Given the description of an element on the screen output the (x, y) to click on. 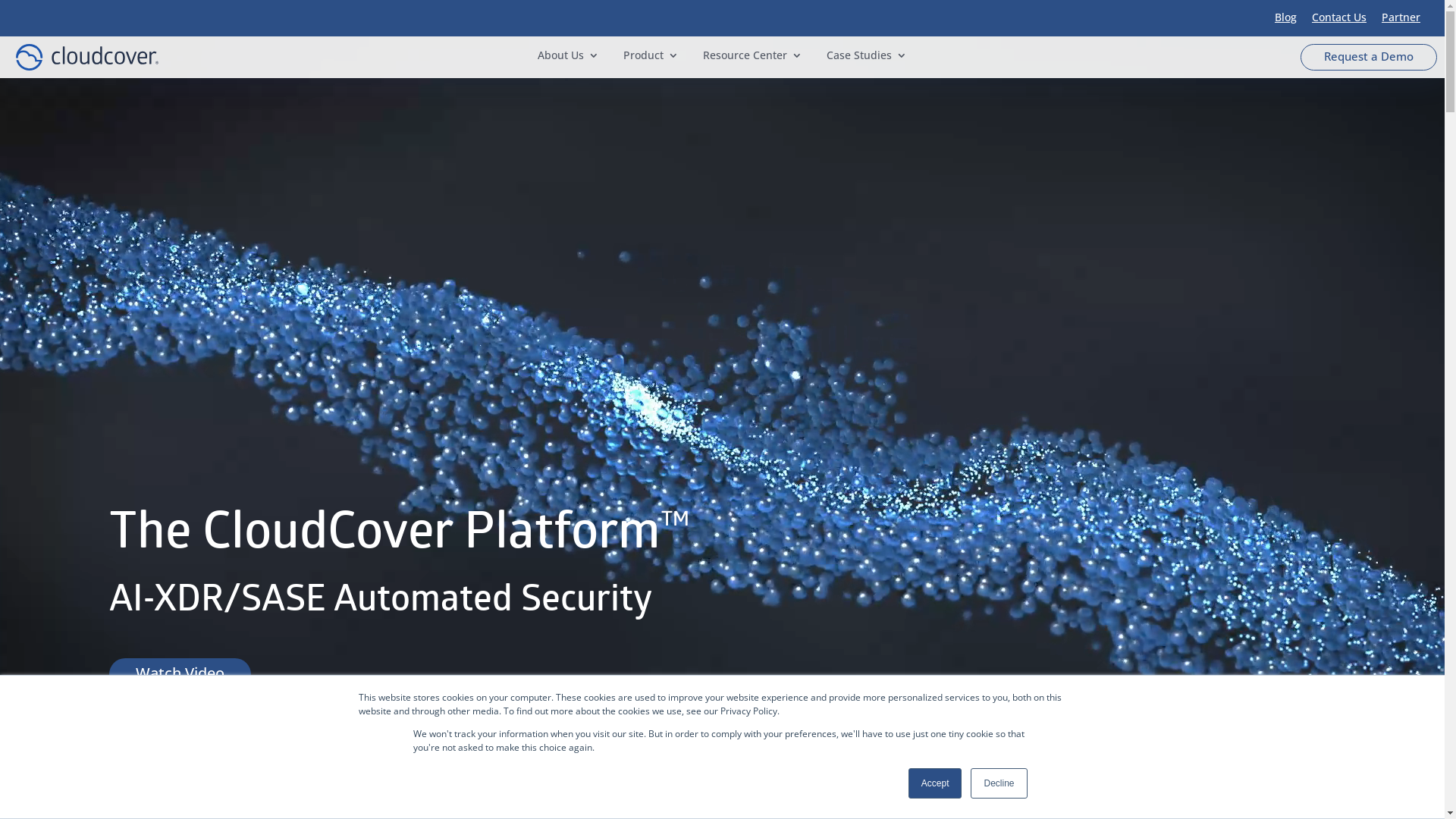
Decline Element type: text (998, 783)
Product Element type: text (650, 58)
Resource Center Element type: text (752, 58)
About Us Element type: text (568, 58)
Request a Demo Element type: text (1368, 57)
logo-cloudcover Element type: hover (86, 56)
Blog Element type: text (1285, 16)
Contact Us Element type: text (1338, 16)
Watch Video Element type: text (180, 674)
Accept Element type: text (935, 783)
Learn More Element type: text (176, 730)
Case Studies Element type: text (866, 58)
Partner Element type: text (1400, 16)
